Given the description of an element on the screen output the (x, y) to click on. 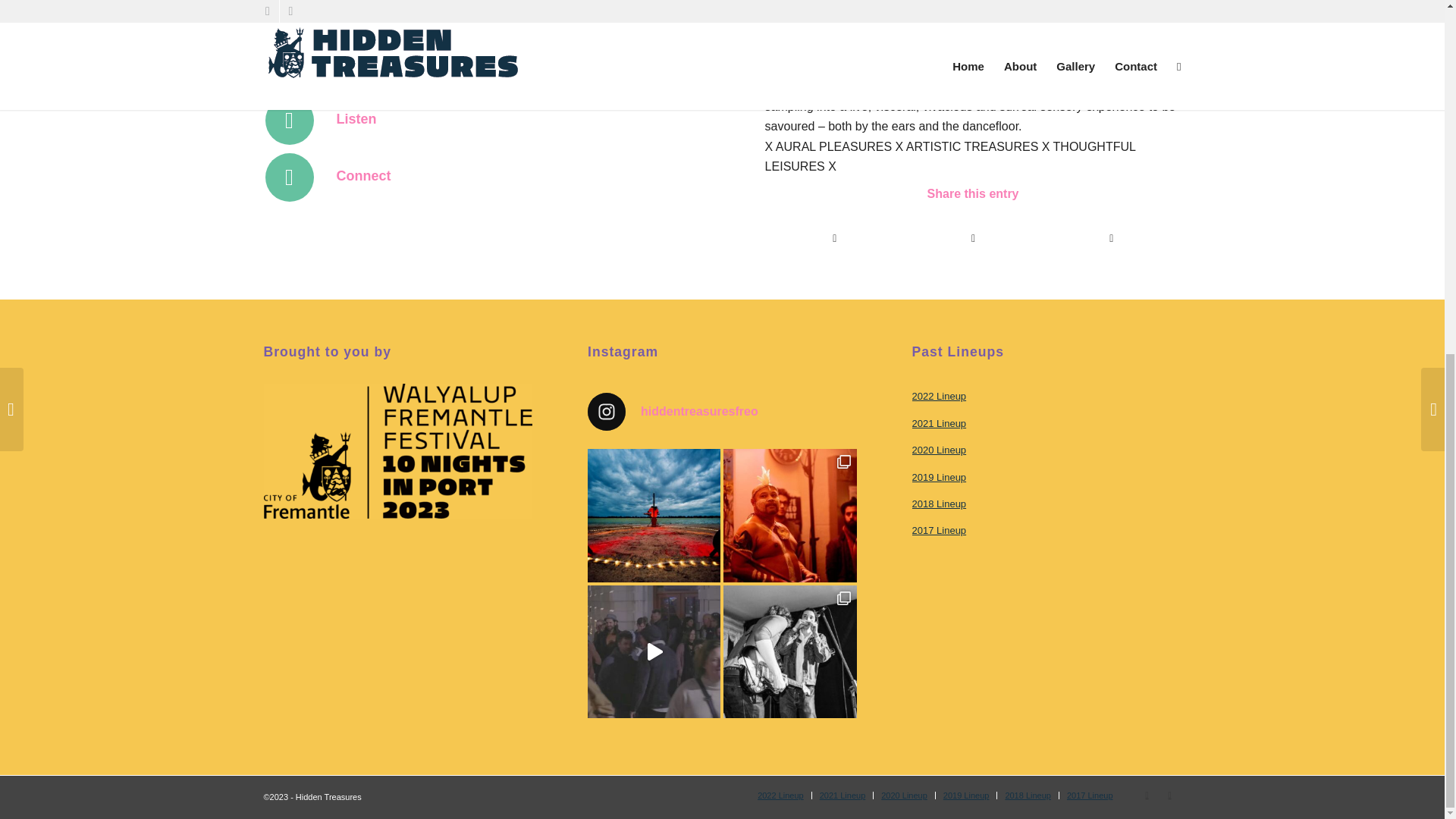
Facebook (1146, 793)
Instagram (1169, 793)
Listen (356, 118)
Listen (356, 118)
hiddentreasuresfreo (722, 411)
Connect (363, 175)
Connect (363, 175)
